Given the description of an element on the screen output the (x, y) to click on. 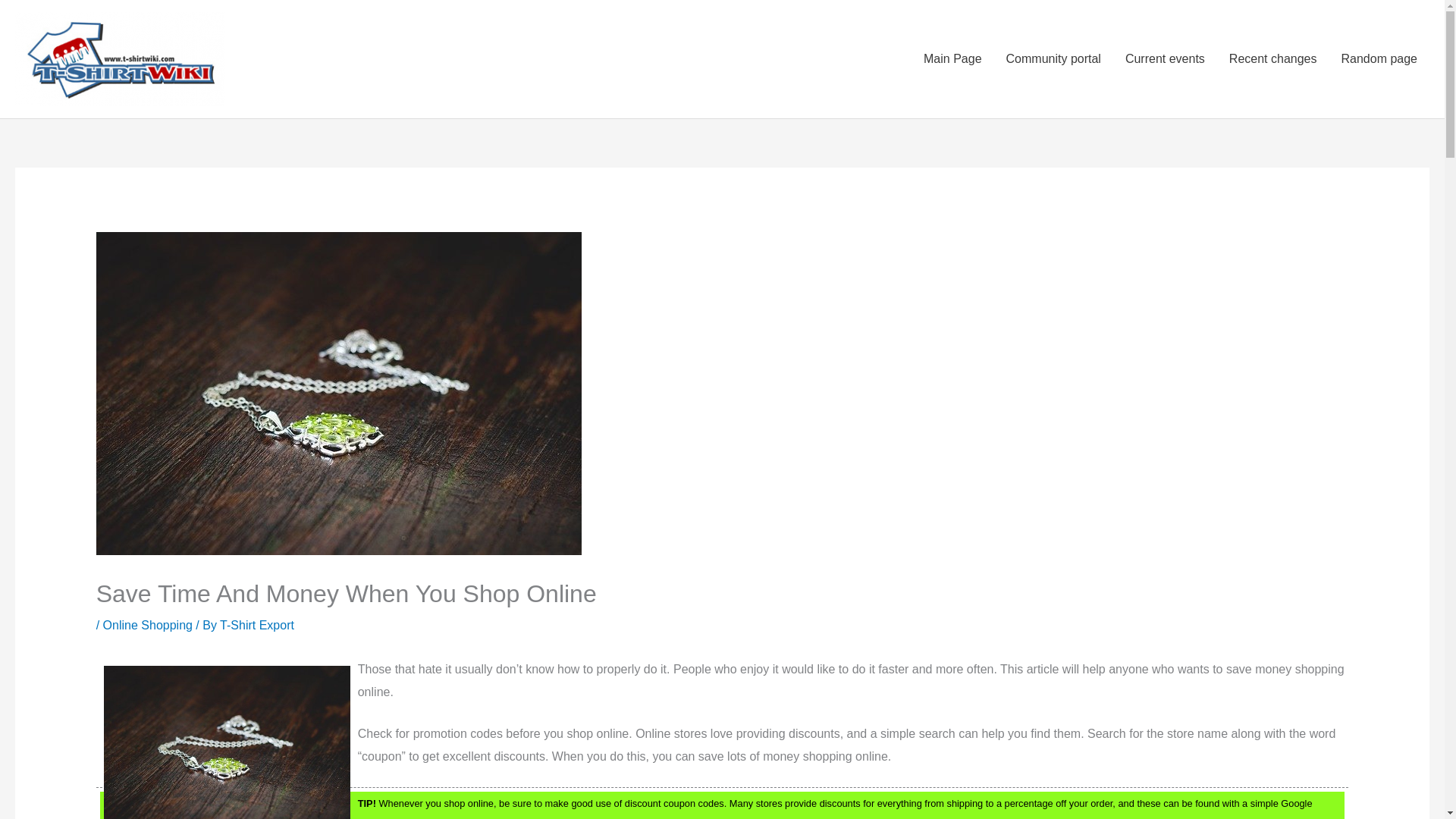
Random page (1378, 59)
Community portal (1053, 59)
View all posts by T-Shirt Export (256, 625)
T-Shirt Export (256, 625)
Online Shopping (147, 625)
Recent changes (1273, 59)
Current events (1165, 59)
Main Page (952, 59)
